Given the description of an element on the screen output the (x, y) to click on. 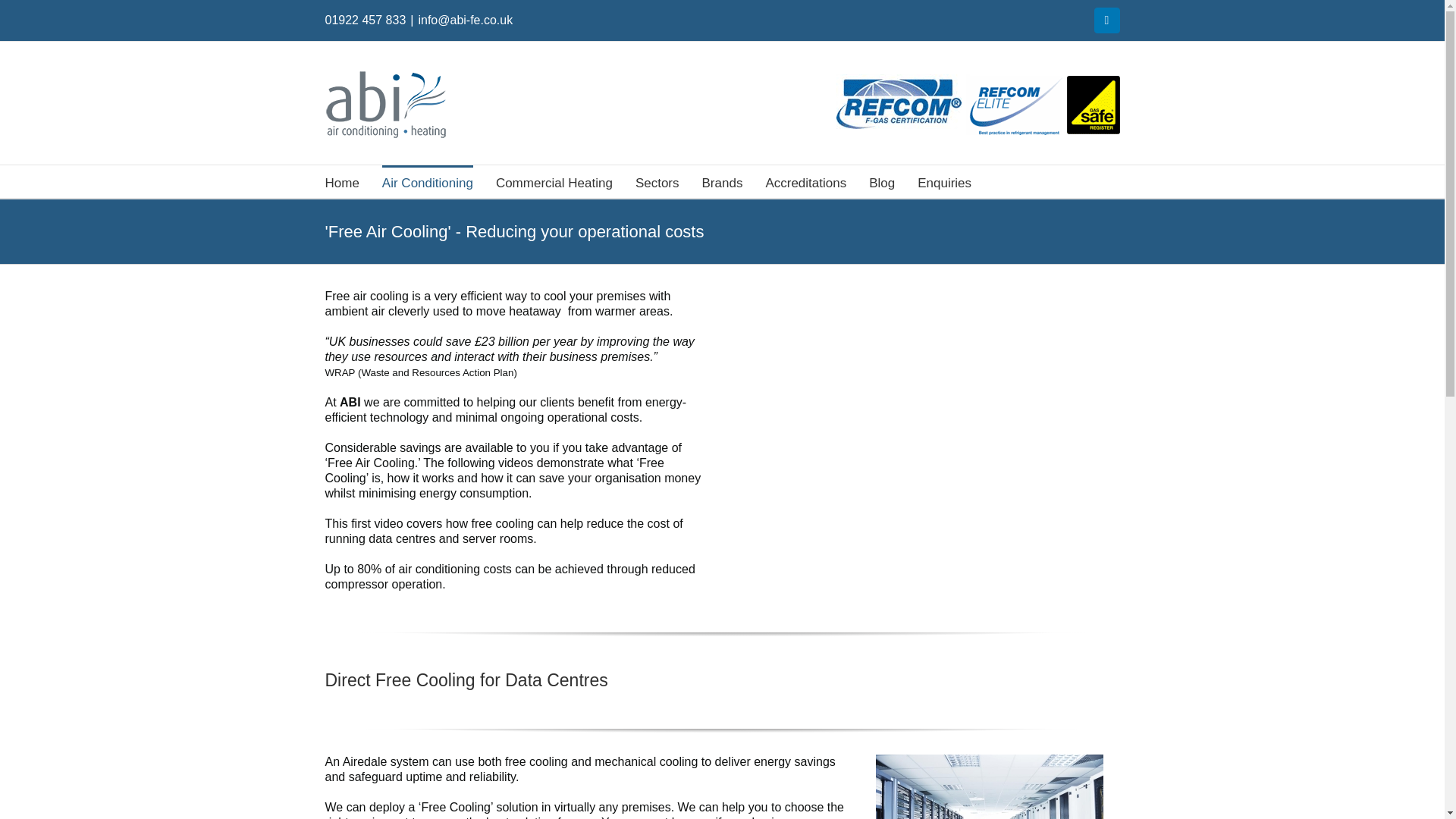
Sectors (656, 181)
Air Conditioning (427, 181)
01922 457 833 (365, 19)
Home (341, 181)
YouTube video player 1 (928, 396)
data centre server room (989, 786)
Commercial Heating (554, 181)
LinkedIn (1106, 20)
Brands (721, 181)
